Given the description of an element on the screen output the (x, y) to click on. 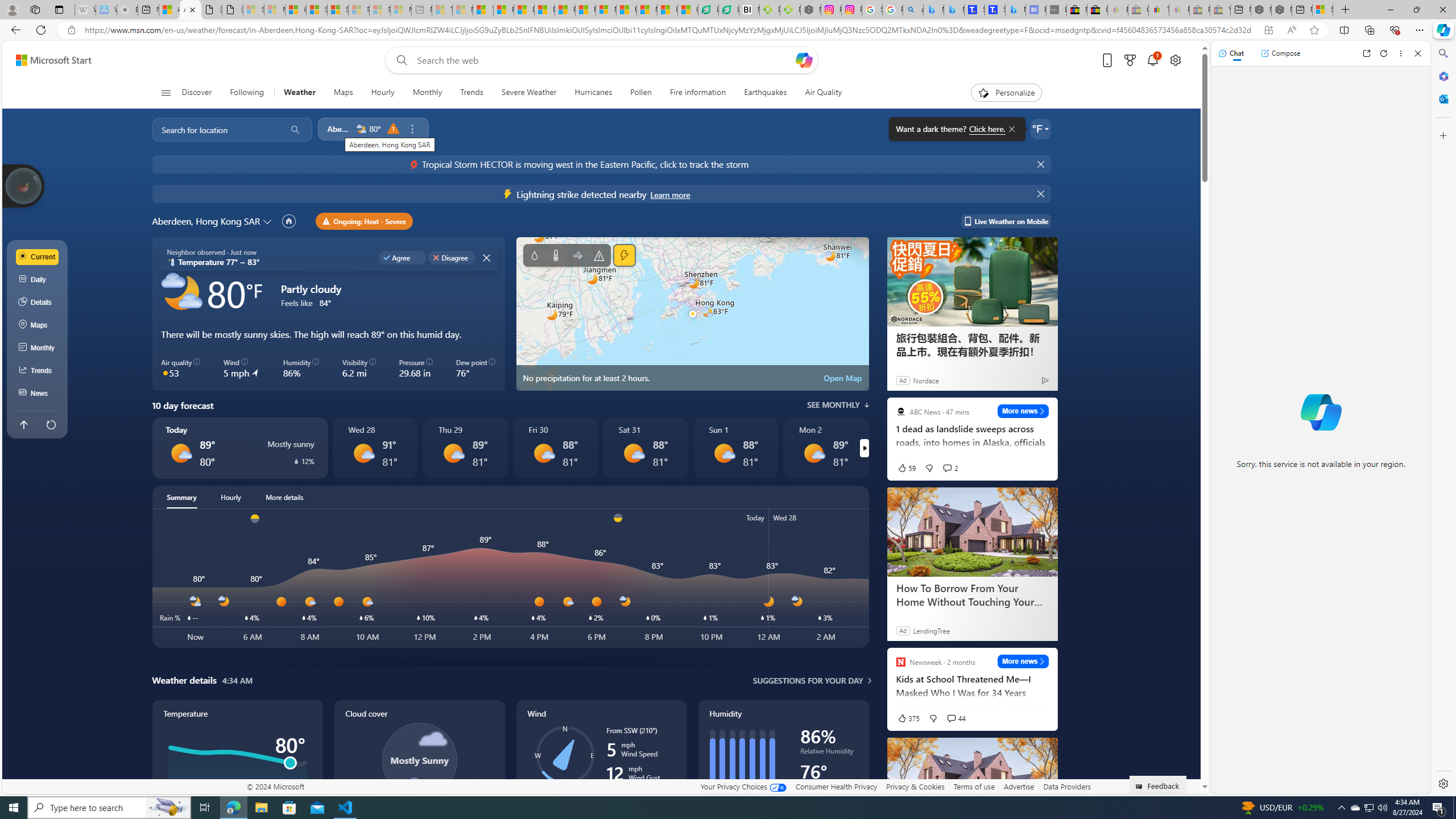
App available. Install Microsoft Start Weather (1268, 29)
Join us in planting real trees to help our planet! (23, 184)
Privacy & Cookies (915, 786)
Air Quality (818, 92)
Hourly (382, 92)
See Monthly (837, 404)
Class: miniMapRadarSVGView-DS-EntryPoint1-1 (692, 313)
Refresh this page (50, 424)
Monthly (37, 347)
Severe Weather (529, 92)
